Given the description of an element on the screen output the (x, y) to click on. 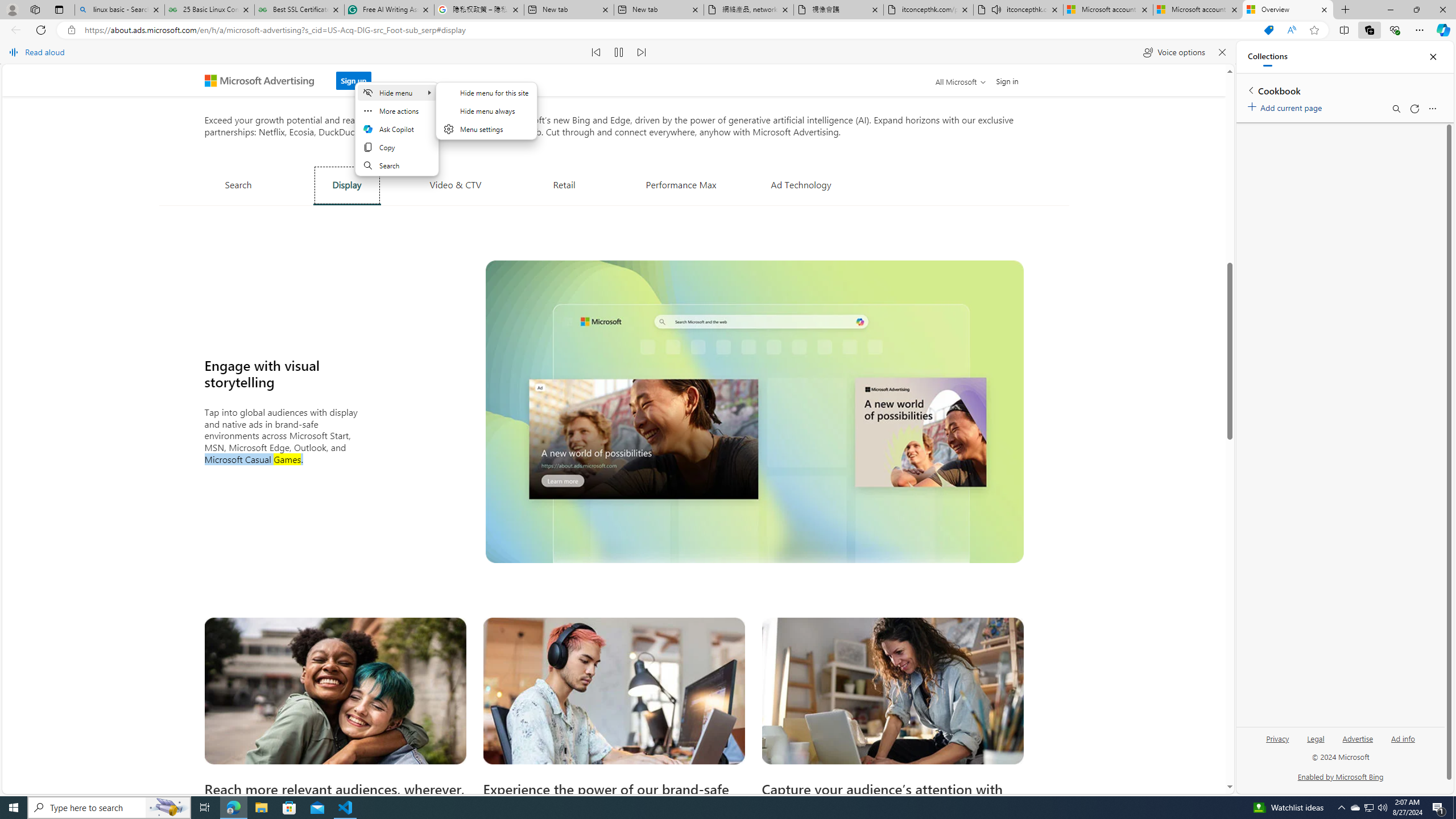
Copy (396, 147)
Hide menu for this site (486, 92)
Hide menu (486, 117)
Read next paragraph (641, 52)
Sign up (352, 81)
25 Basic Linux Commands For Beginners - GeeksforGeeks (209, 9)
Display (347, 184)
Free AI Writing Assistance for Students | Grammarly (389, 9)
Mini menu on text selection (396, 135)
